Given the description of an element on the screen output the (x, y) to click on. 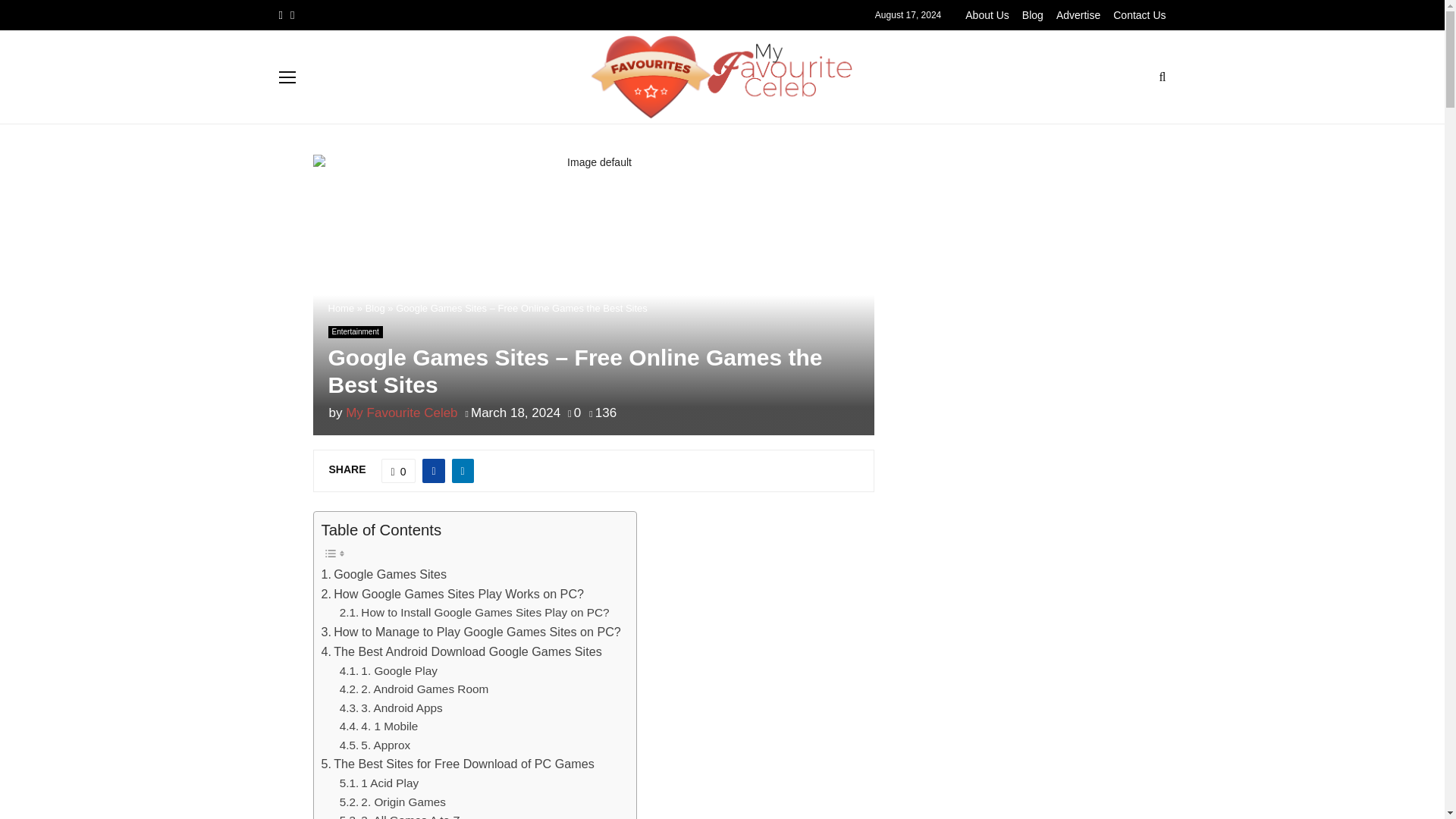
5. Approx (374, 745)
Blog (375, 307)
How to Install Google Games Sites Play on PC? (474, 612)
1 Acid Play (379, 783)
4. 1 Mobile (379, 726)
1. Google Play (388, 670)
5. Approx (374, 745)
Like (398, 470)
2. Android Games Room (413, 689)
3. Android Apps (390, 708)
